Given the description of an element on the screen output the (x, y) to click on. 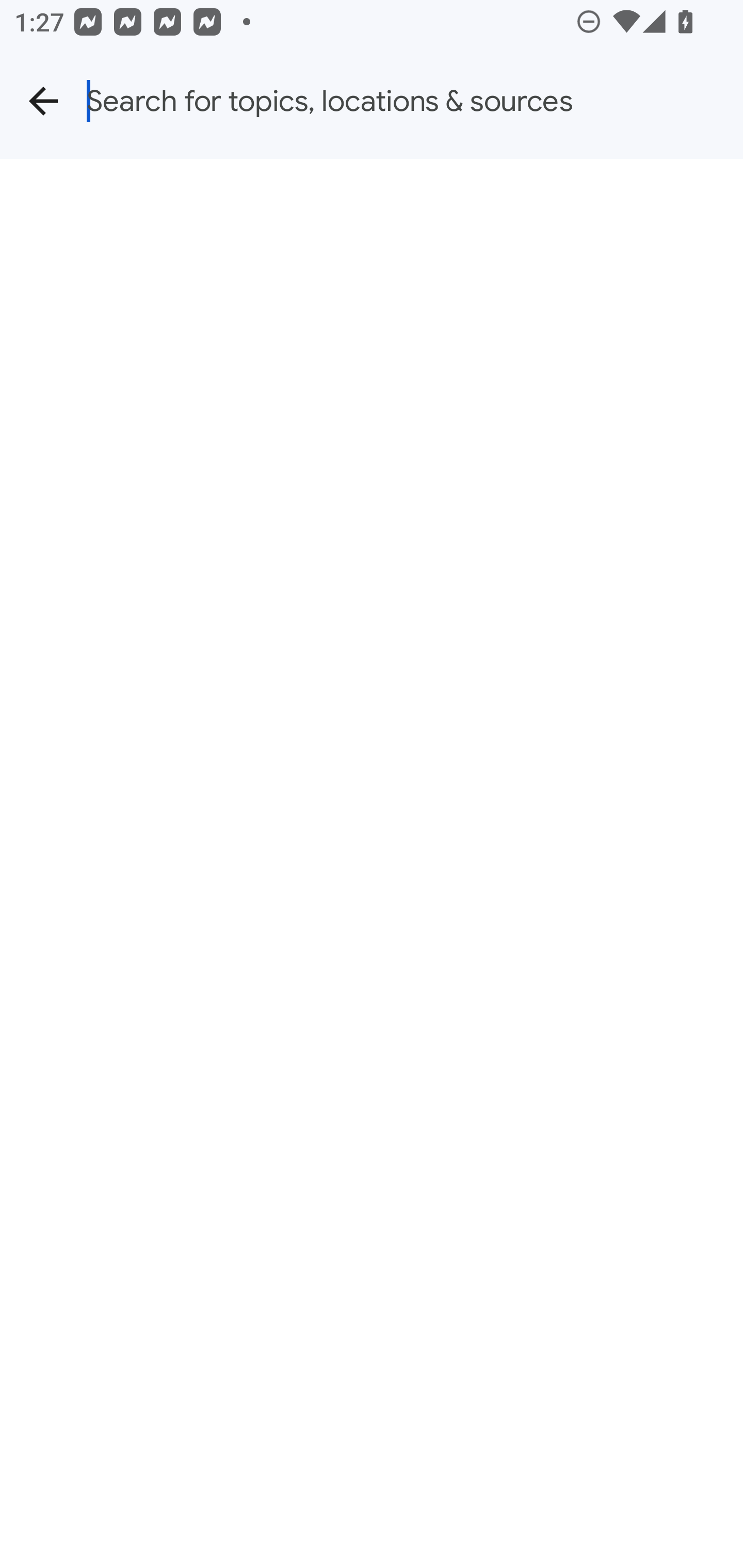
Back (43, 101)
Search for topics, locations & sources (414, 101)
